Given the description of an element on the screen output the (x, y) to click on. 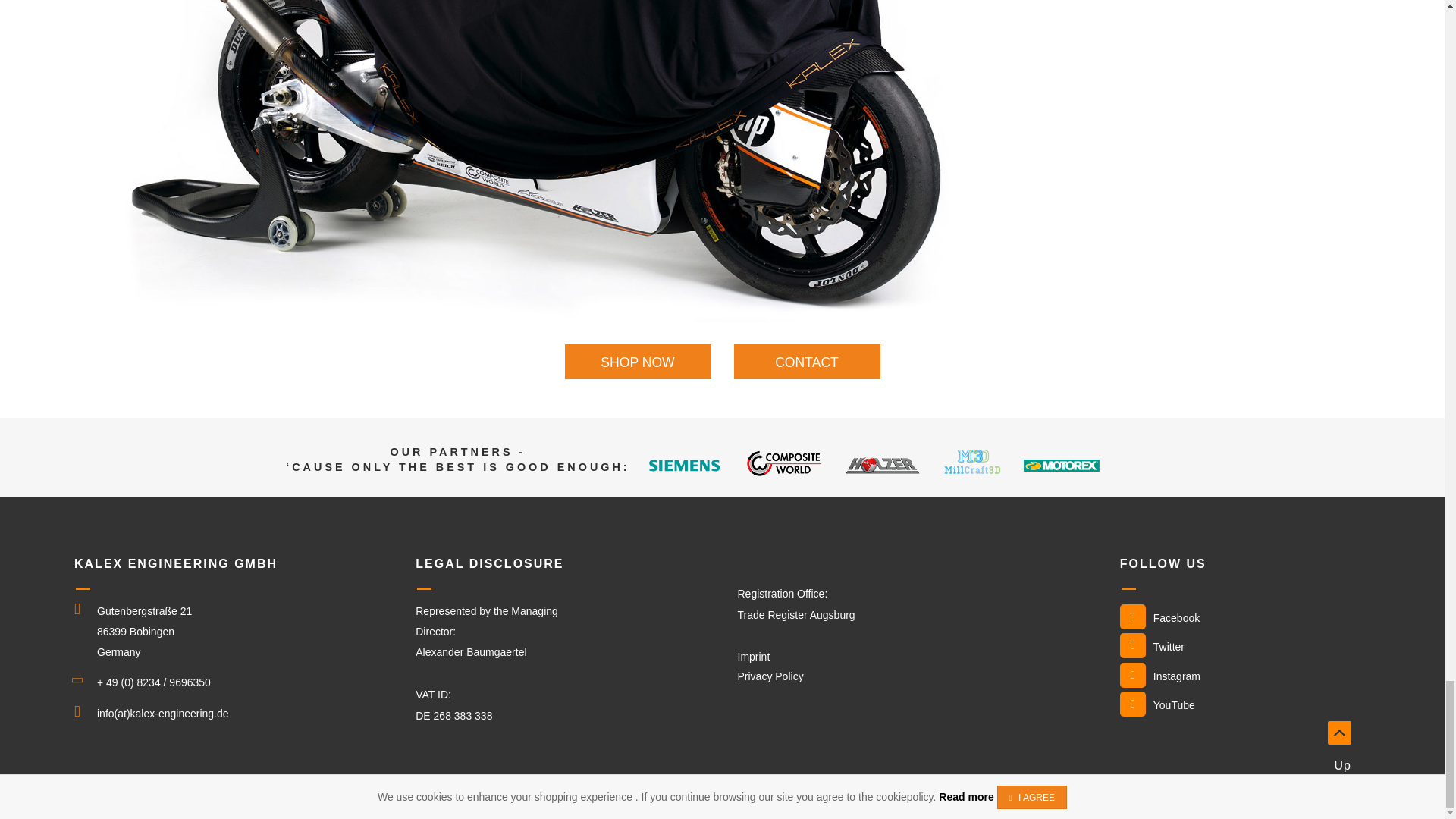
Privacy Policy (909, 684)
Imprint (753, 656)
SHOP NOW (637, 361)
CONTACT (806, 361)
